Given the description of an element on the screen output the (x, y) to click on. 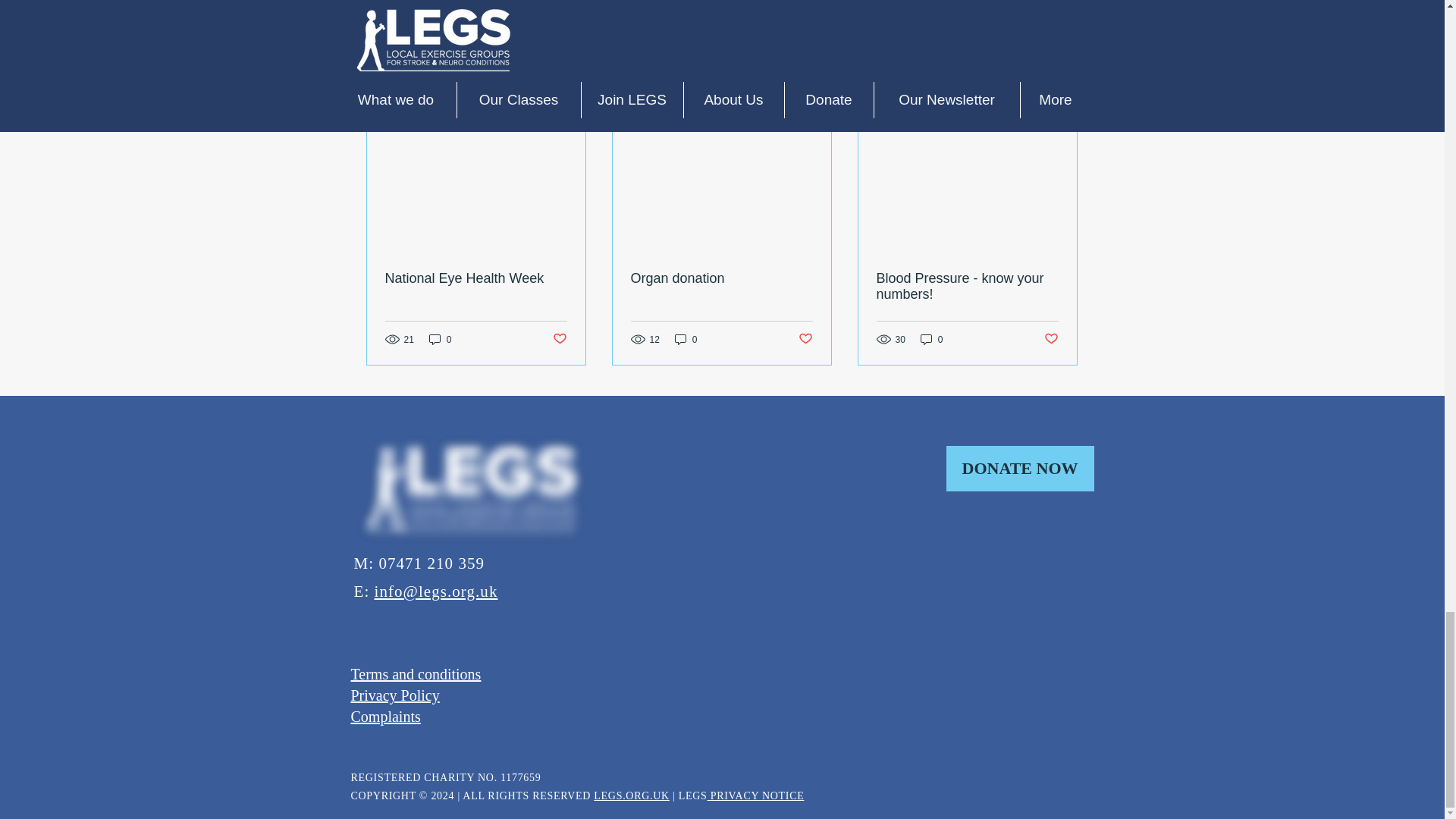
See All (1061, 102)
Post not marked as liked (995, 19)
National Eye Health Week (476, 278)
